Given the description of an element on the screen output the (x, y) to click on. 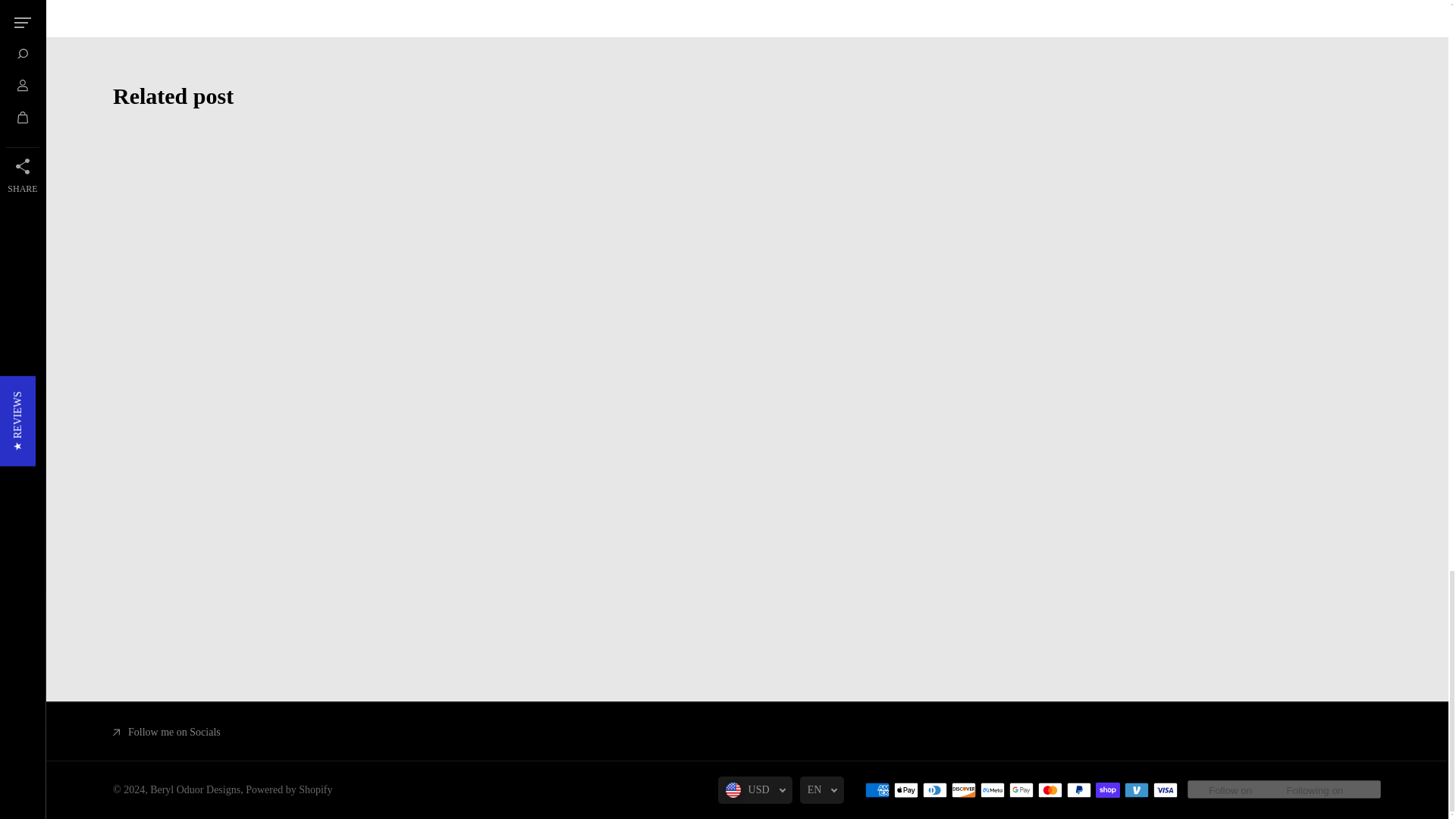
Meta Pay (991, 789)
Shop Pay (1107, 789)
PayPal (1078, 789)
Mastercard (1050, 789)
Venmo (1136, 789)
Google Pay (1021, 789)
Discover (963, 789)
American Express (876, 789)
Apple Pay (905, 789)
Diners Club (935, 789)
